Given the description of an element on the screen output the (x, y) to click on. 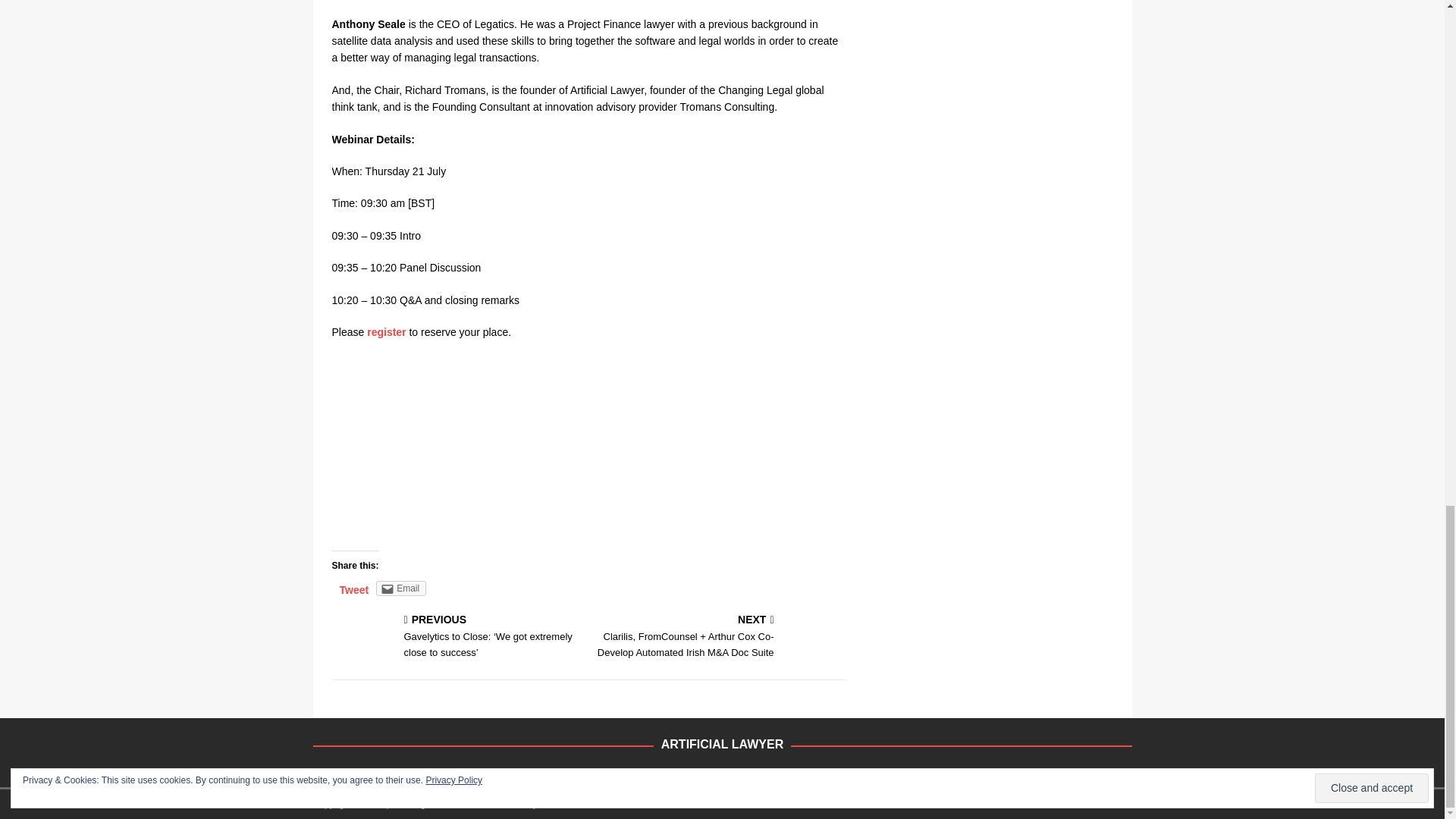
Premium WordPress Themes (564, 803)
Click to email a link to a friend (400, 588)
